Given the description of an element on the screen output the (x, y) to click on. 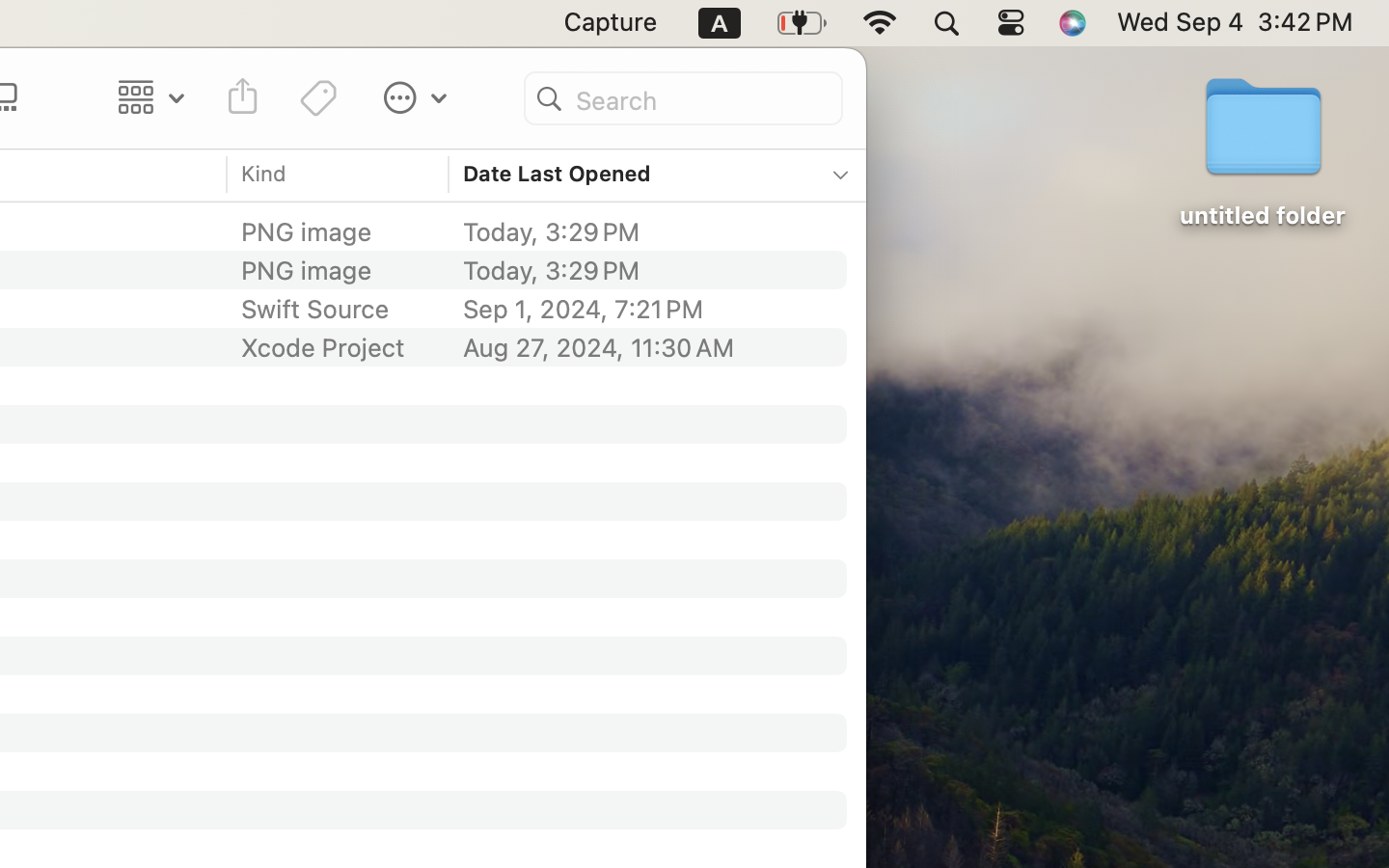
Today, 3:29 PM Element type: AXStaticText (642, 269)
Kind Element type: AXStaticText (264, 173)
Xcode Project Element type: AXStaticText (322, 346)
